Given the description of an element on the screen output the (x, y) to click on. 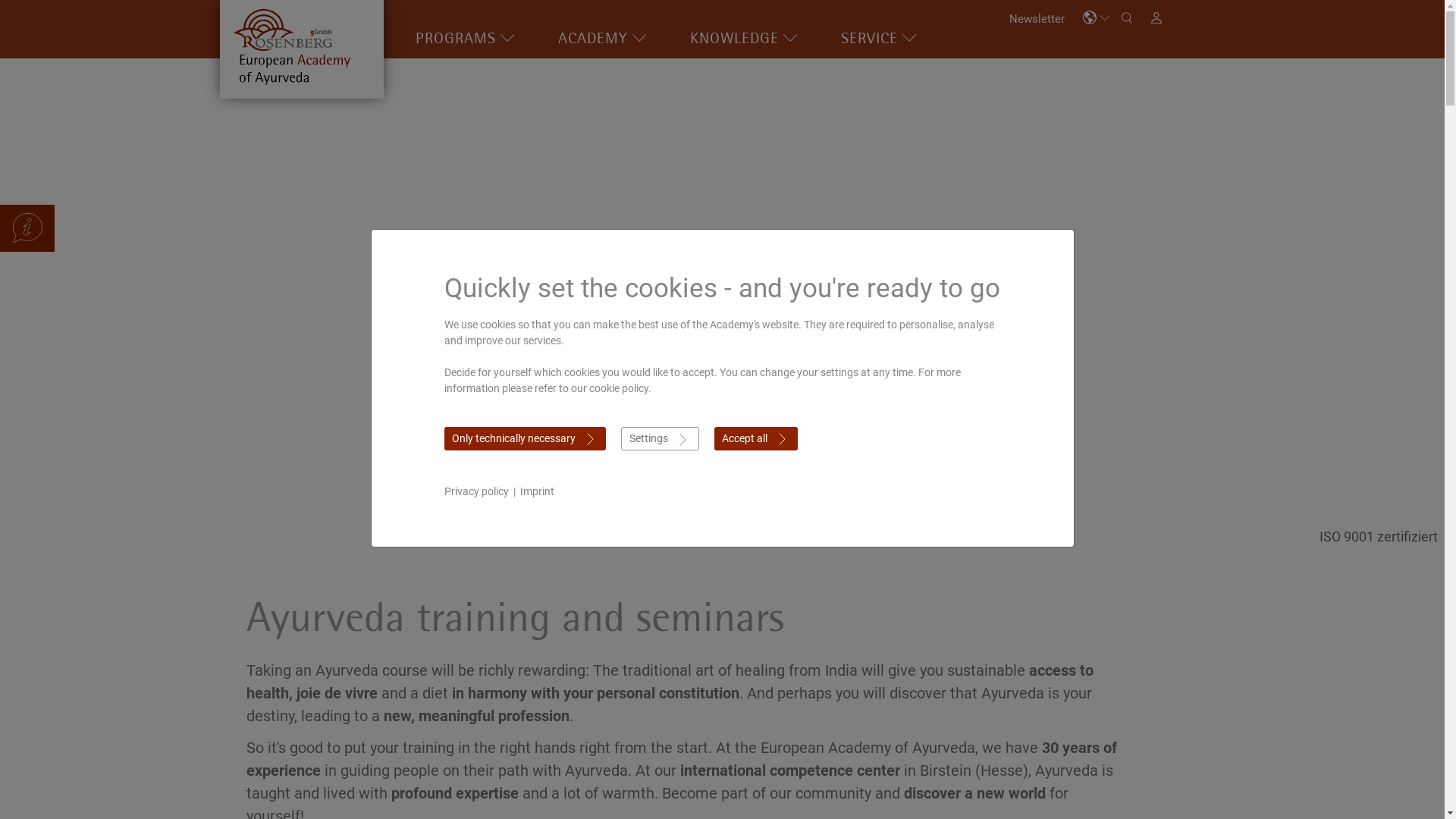
Accept all Element type: text (755, 438)
Only technically necessary Element type: text (524, 438)
ISO 9001 zertifiziert Element type: text (1378, 536)
Imprint Element type: text (537, 491)
Privacy policy Element type: text (476, 491)
Settings Element type: text (659, 438)
Newsletter Element type: text (1036, 19)
